Given the description of an element on the screen output the (x, y) to click on. 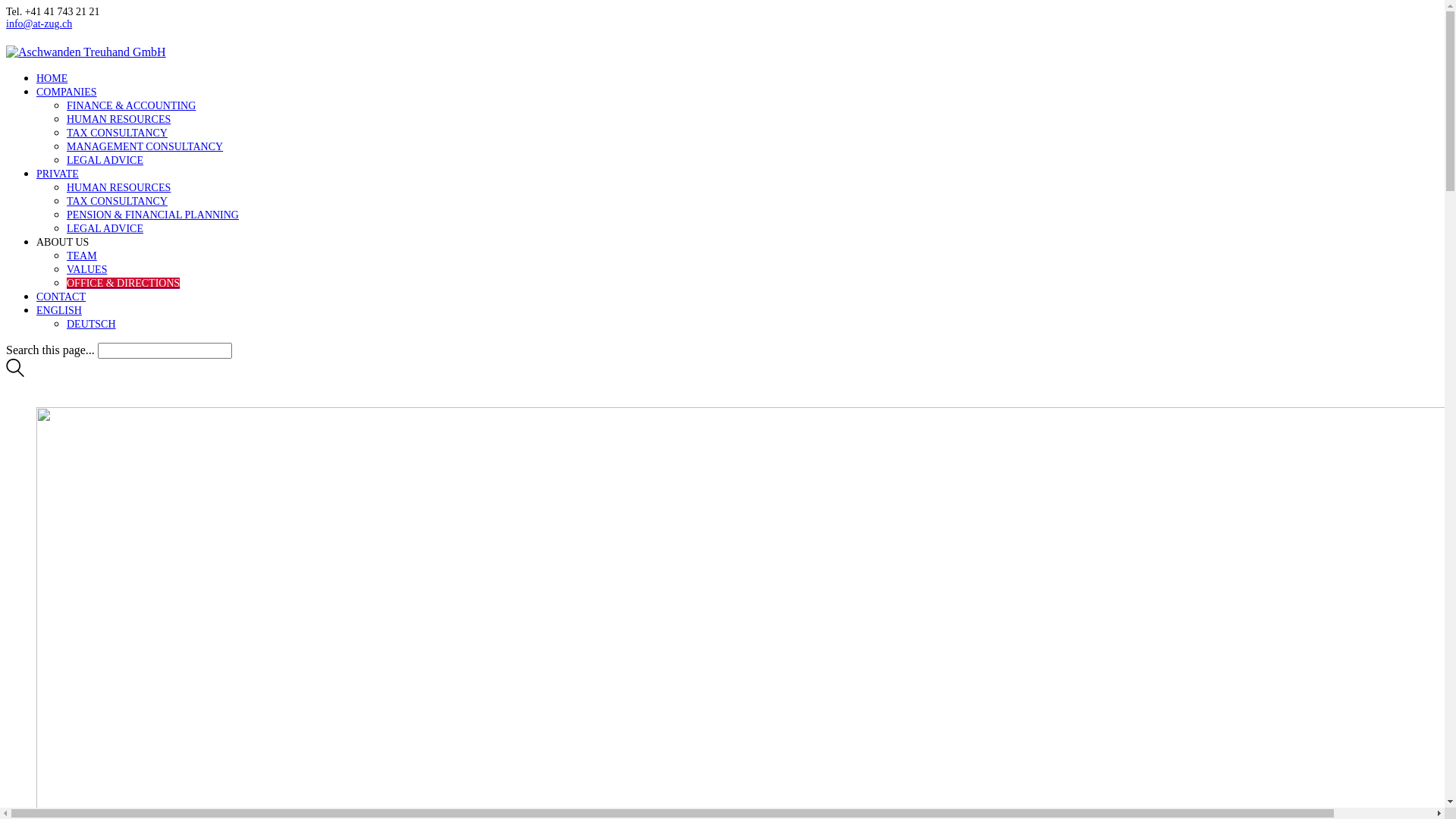
DEUTSCH Element type: text (91, 323)
PRIVATE Element type: text (57, 173)
PENSION & FINANCIAL PLANNING Element type: text (152, 214)
FINANCE & ACCOUNTING Element type: text (130, 105)
COMPANIES Element type: text (66, 91)
TAX CONSULTANCY Element type: text (116, 201)
info@at-zug.ch Element type: text (39, 23)
OFFICE & DIRECTIONS Element type: text (122, 282)
TAX CONSULTANCY Element type: text (116, 132)
HUMAN RESOURCES Element type: text (118, 187)
LEGAL ADVICE Element type: text (104, 160)
HOME Element type: text (51, 78)
TEAM Element type: text (81, 255)
ABOUT US Element type: text (62, 241)
LEGAL ADVICE Element type: text (104, 228)
VALUES Element type: text (86, 269)
ENGLISH Element type: text (58, 310)
HUMAN RESOURCES Element type: text (118, 119)
CONTACT Element type: text (60, 296)
MANAGEMENT CONSULTANCY Element type: text (144, 146)
